Given the description of an element on the screen output the (x, y) to click on. 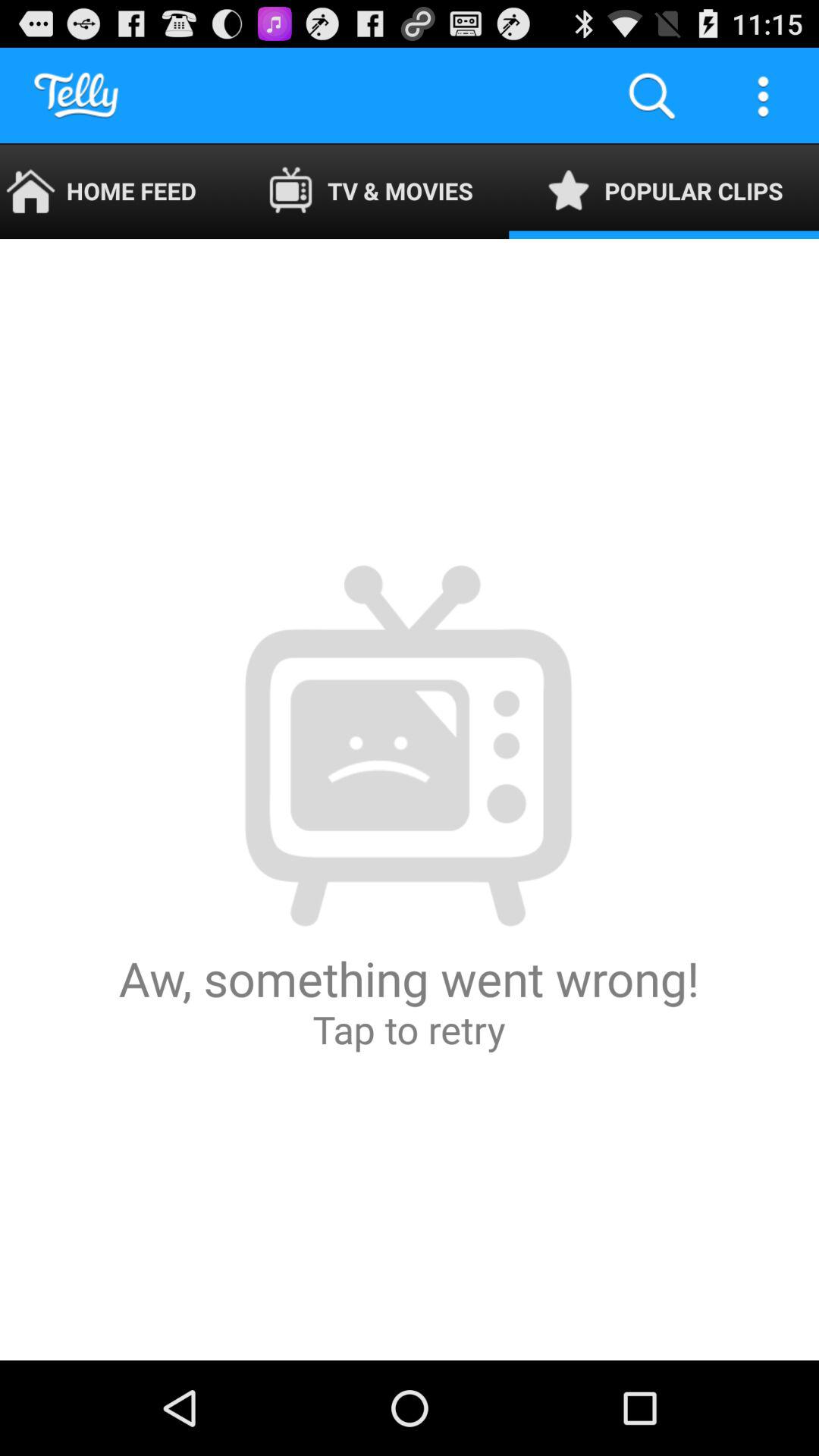
select app next to the tv & movies item (664, 190)
